Given the description of an element on the screen output the (x, y) to click on. 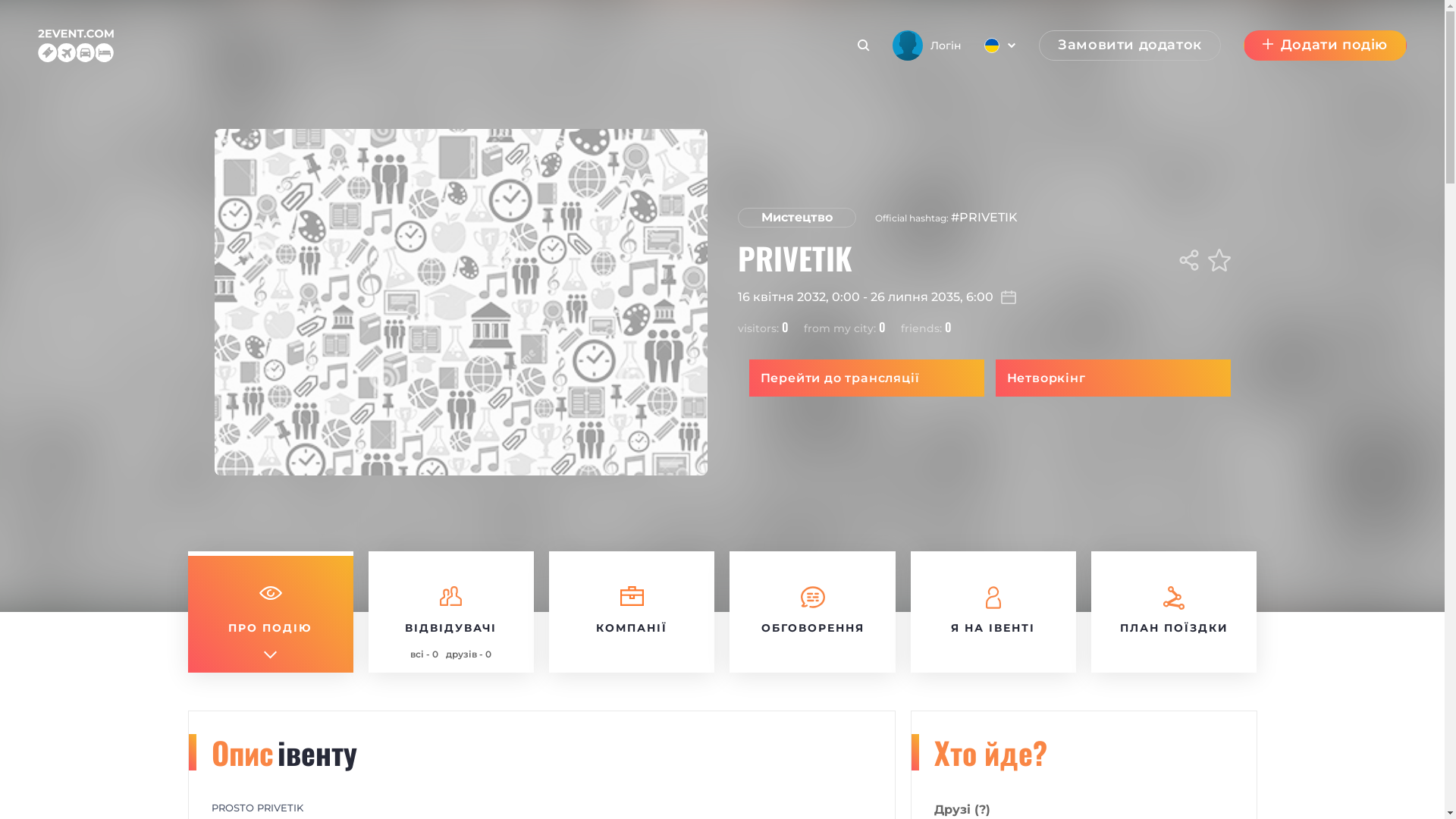
friends: 0 Element type: text (925, 326)
visitors: 0 Element type: text (762, 326)
from my city: 0 Element type: text (844, 326)
